Given the description of an element on the screen output the (x, y) to click on. 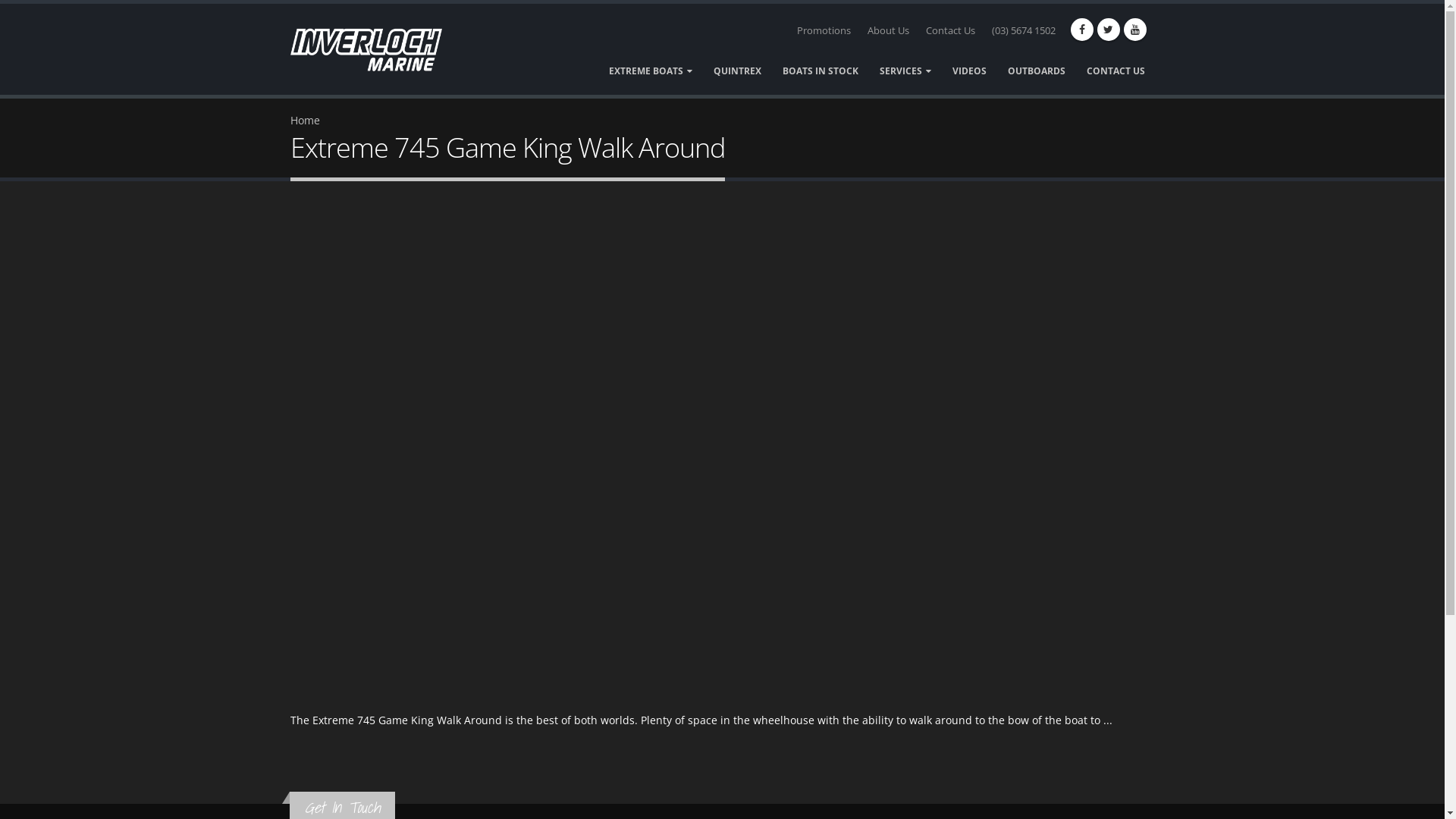
CONTACT US Element type: text (1115, 71)
QUINTREX Element type: text (737, 71)
(03) 5674 1502 Element type: text (1023, 30)
Contact Us Element type: text (949, 30)
About Us Element type: text (887, 30)
OUTBOARDS Element type: text (1036, 71)
BOATS IN STOCK Element type: text (819, 71)
Home Element type: hover (374, 47)
Facebook Element type: hover (1081, 29)
Youtube Element type: hover (1134, 29)
SERVICES Element type: text (904, 71)
Promotions Element type: text (822, 30)
EXTREME BOATS Element type: text (650, 71)
VIDEOS Element type: text (968, 71)
Twitter Element type: hover (1107, 29)
Home Element type: text (304, 119)
